Given the description of an element on the screen output the (x, y) to click on. 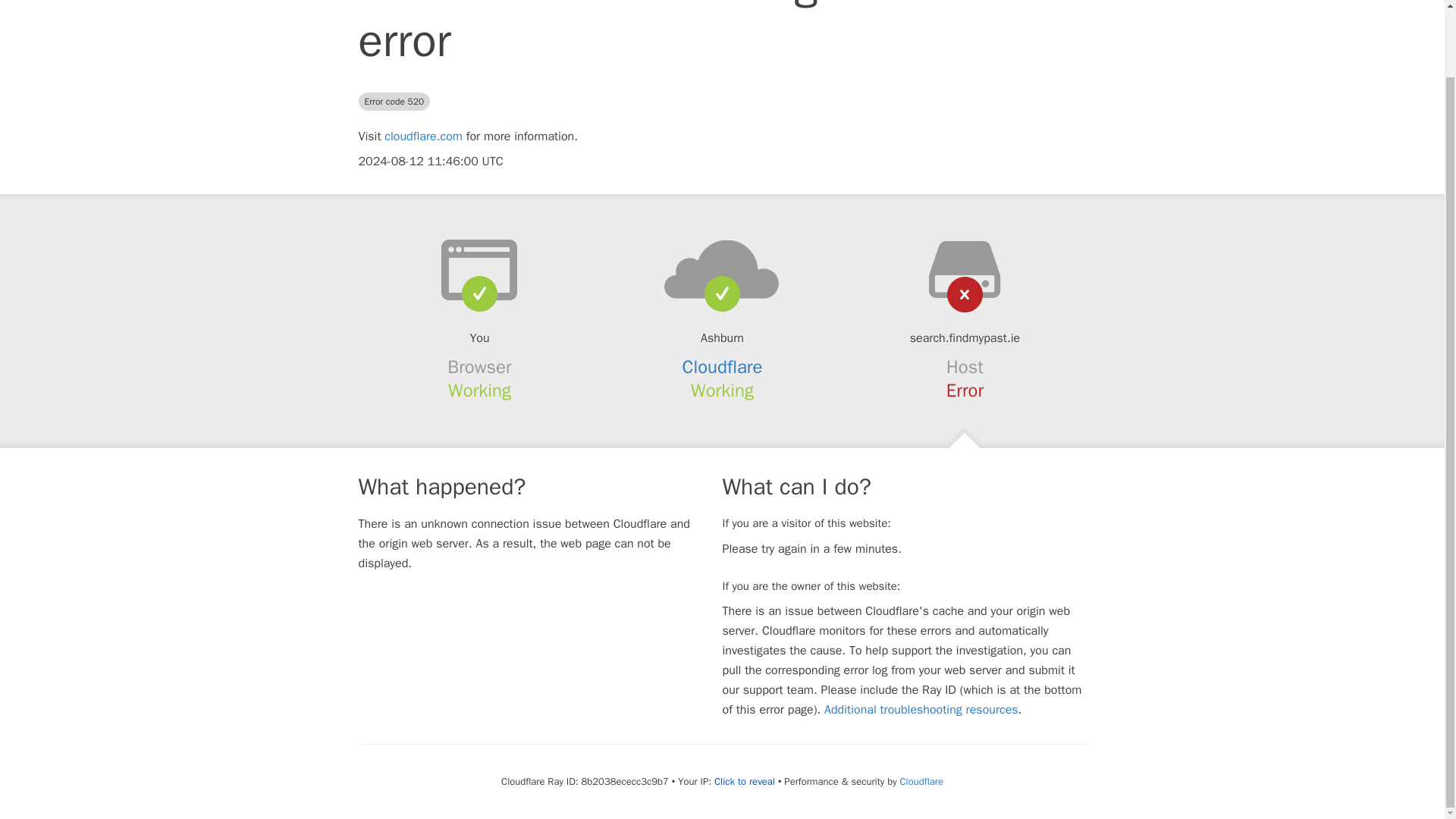
Additional troubleshooting resources (920, 709)
cloudflare.com (423, 136)
Cloudflare (921, 780)
Click to reveal (744, 781)
Cloudflare (722, 366)
